Given the description of an element on the screen output the (x, y) to click on. 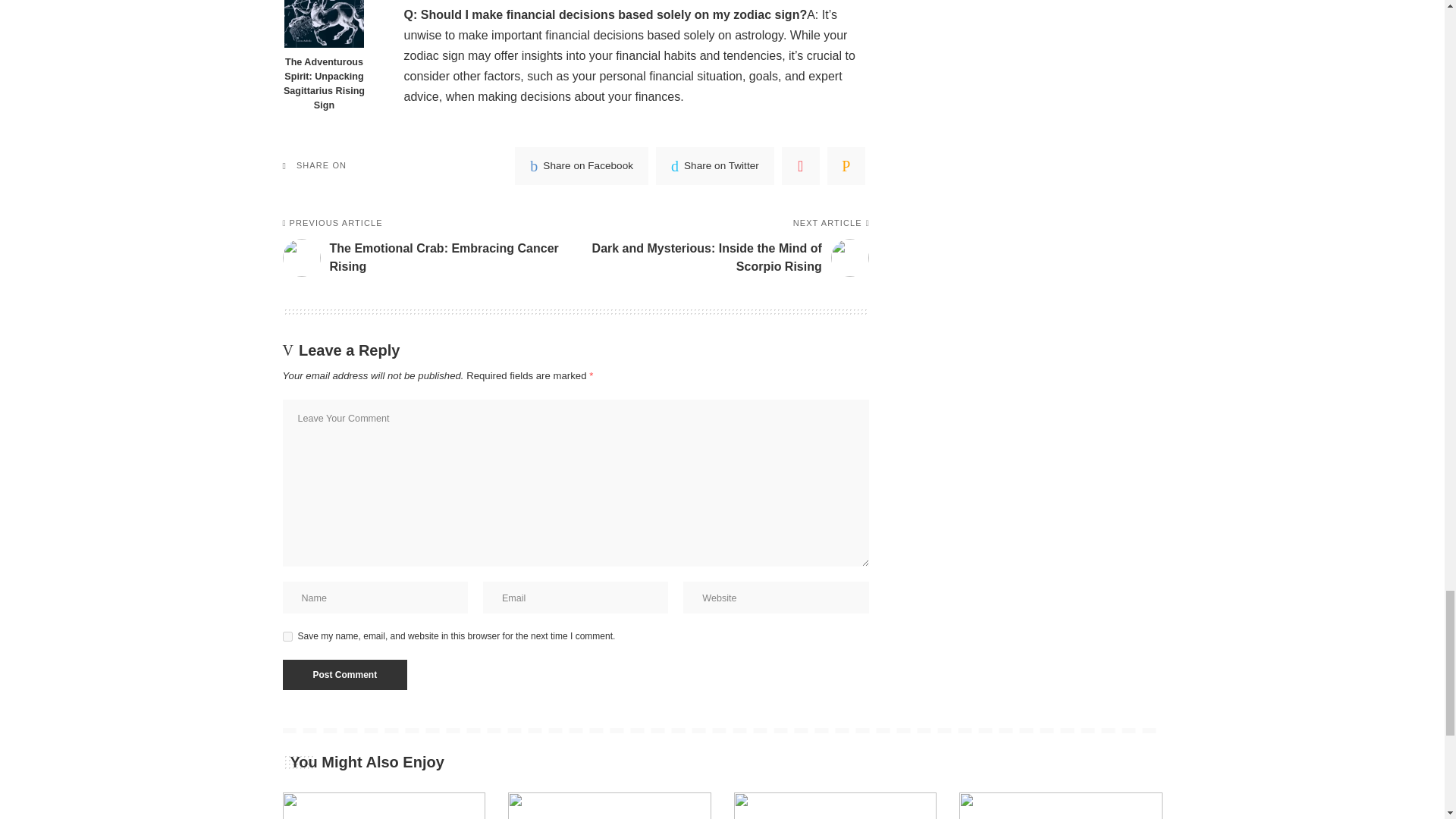
yes (287, 636)
Post Comment (344, 675)
